Given the description of an element on the screen output the (x, y) to click on. 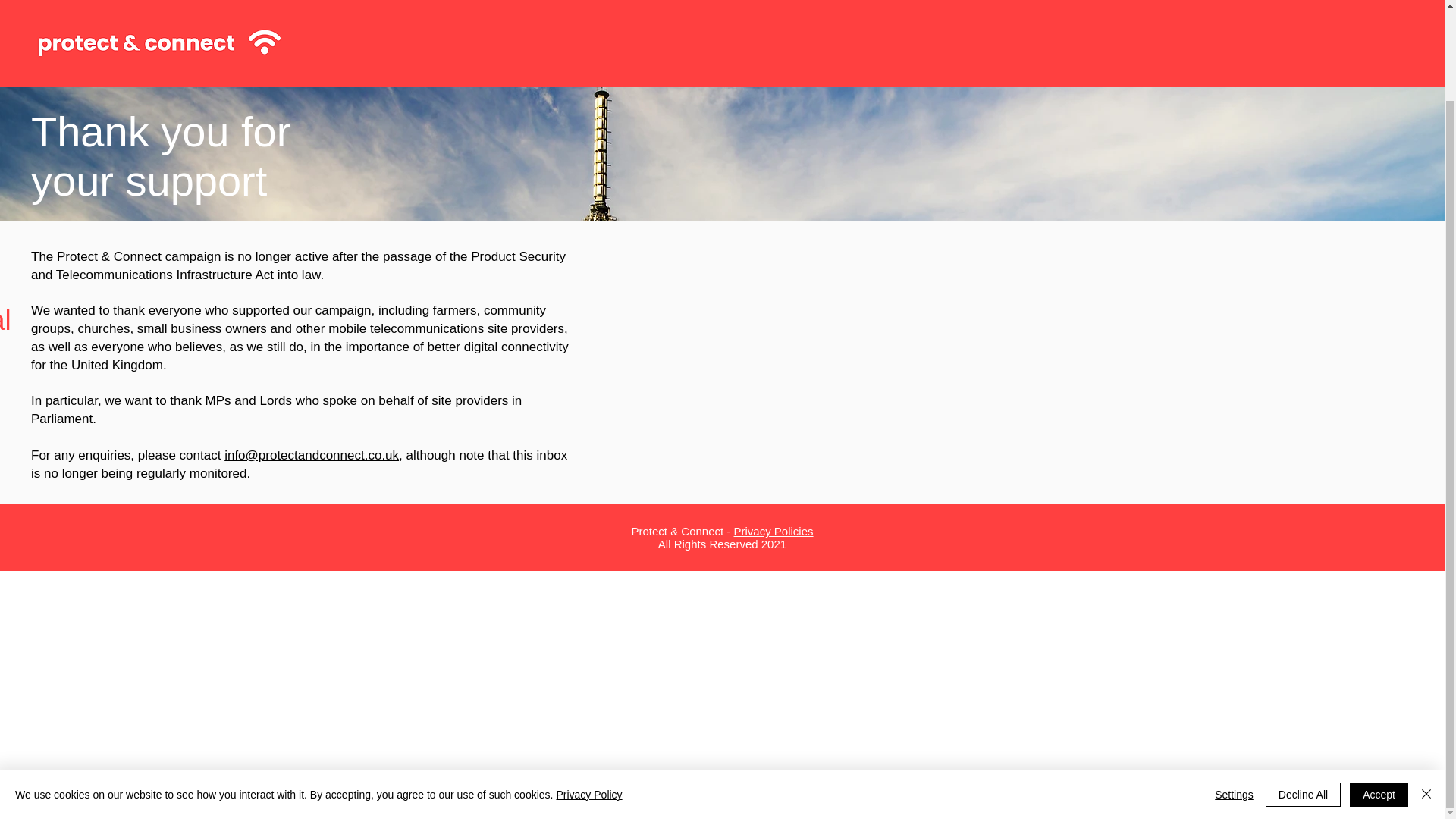
Privacy Policy (588, 690)
Decline All (1302, 690)
Accept (1378, 690)
Privacy Policies (773, 530)
